Given the description of an element on the screen output the (x, y) to click on. 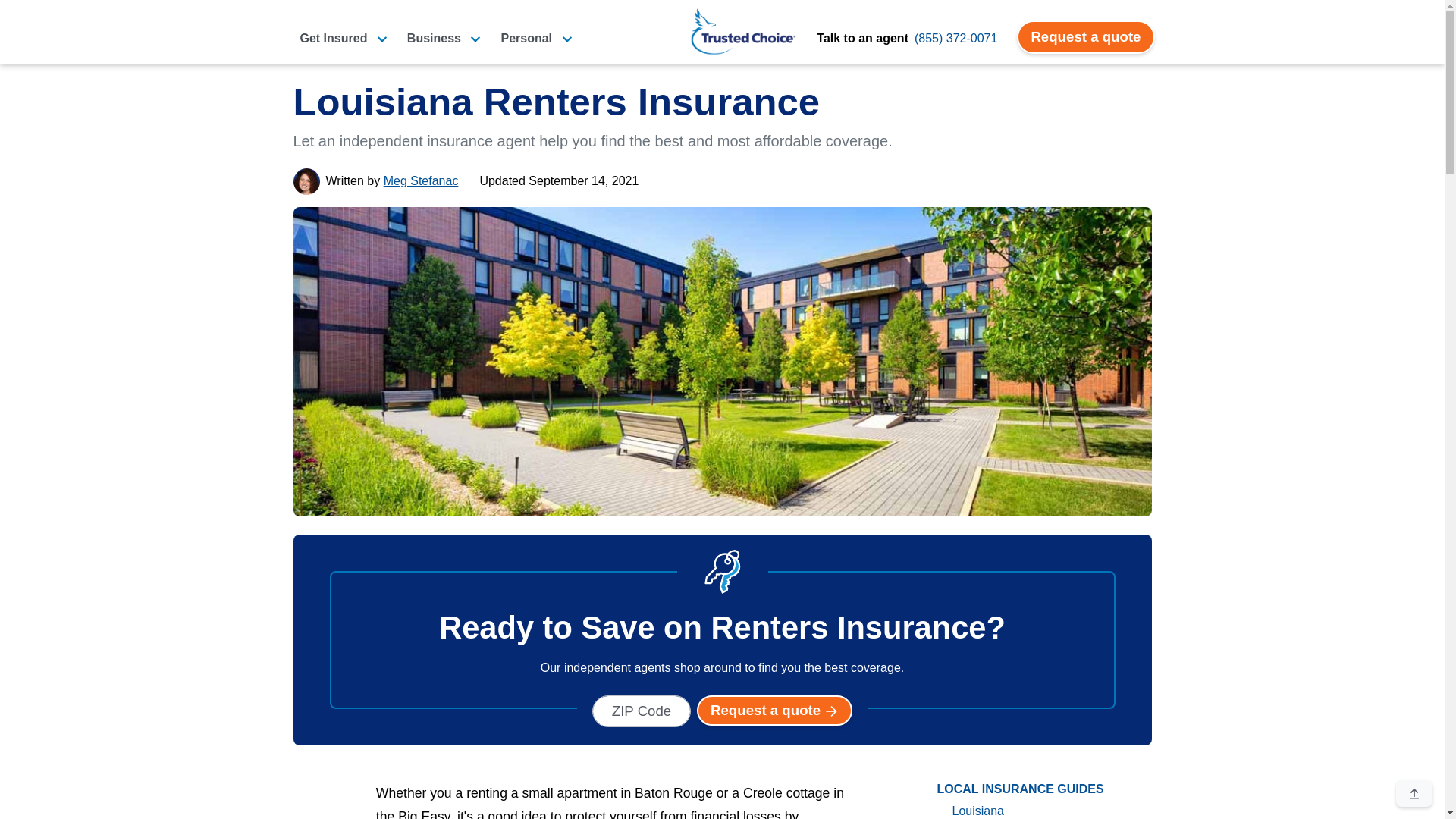
Business (444, 38)
Request a quote (1085, 37)
Get Insured (343, 38)
Personal (536, 38)
Homepage (742, 31)
